Given the description of an element on the screen output the (x, y) to click on. 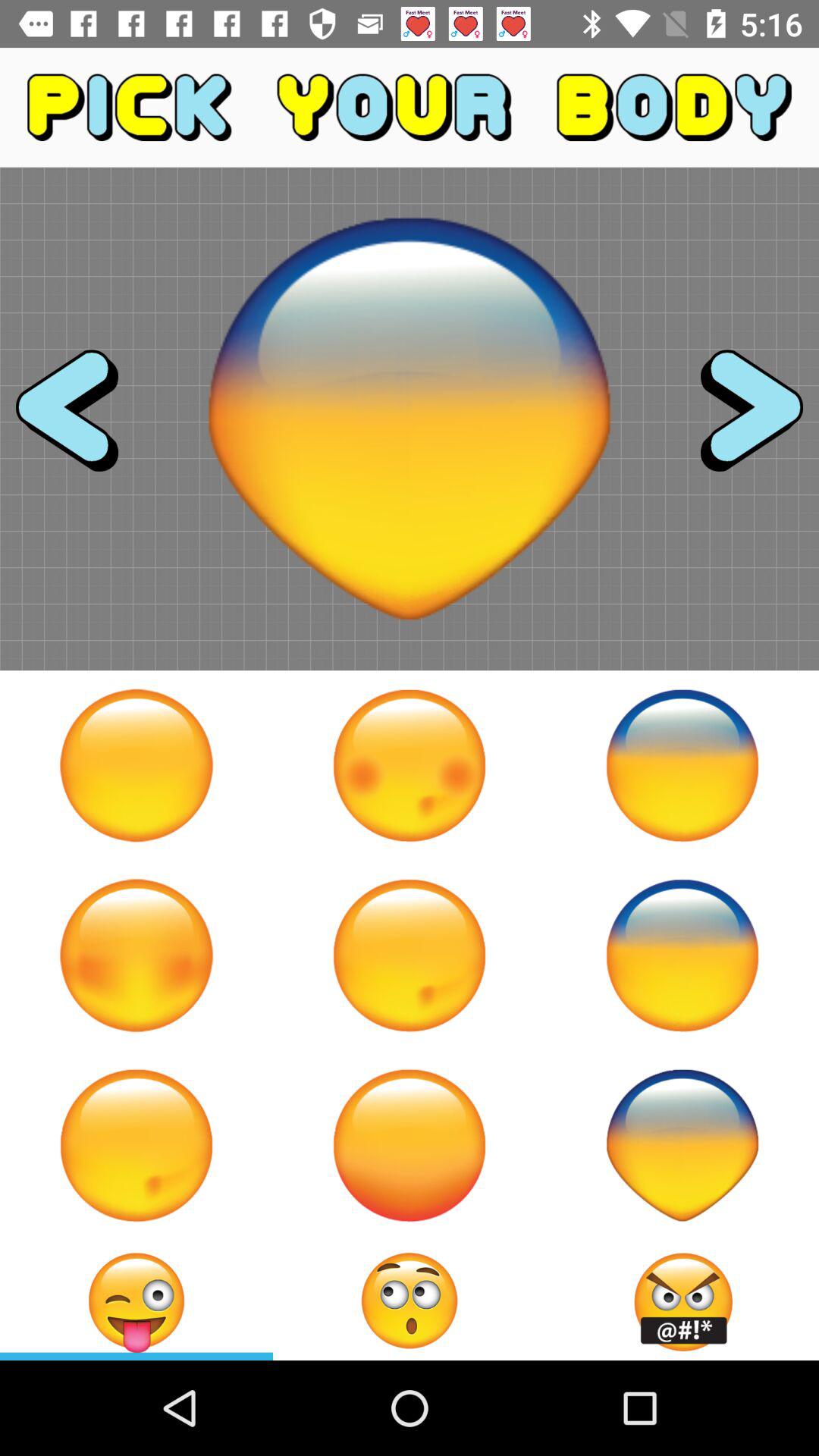
dimple on right cheek (136, 1145)
